Given the description of an element on the screen output the (x, y) to click on. 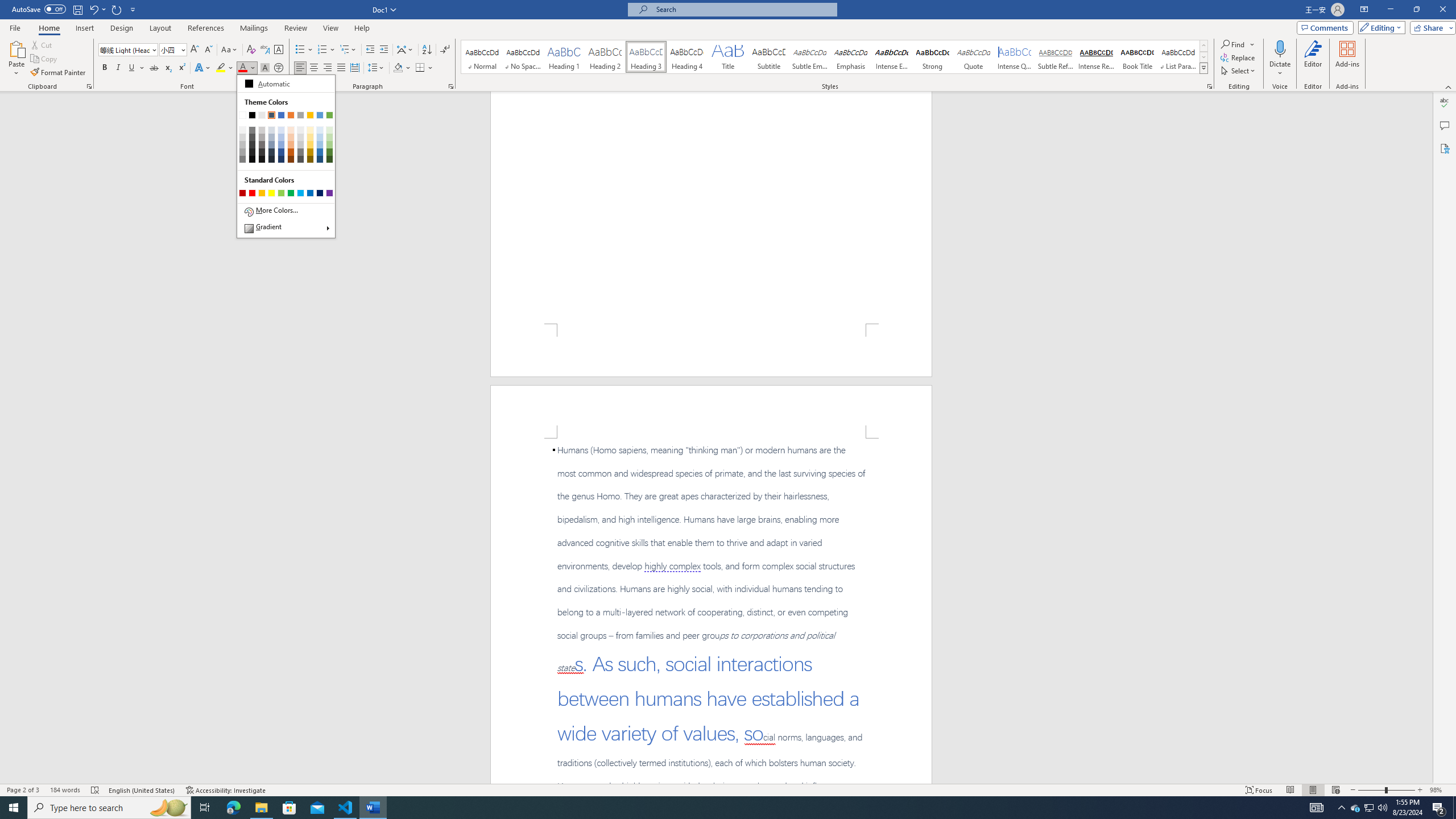
Find (1237, 44)
Zoom In (1420, 790)
Heading 1 (564, 56)
Cut (42, 44)
Paste (16, 58)
Font Color (284, 156)
Class: MsoCommandBar (728, 789)
Accessibility Checker Accessibility: Investigate (226, 790)
Increase Indent (383, 49)
Text Highlight Color Yellow (220, 67)
Font Color (246, 67)
Q2790: 100% (1382, 807)
Paste (16, 48)
